Given the description of an element on the screen output the (x, y) to click on. 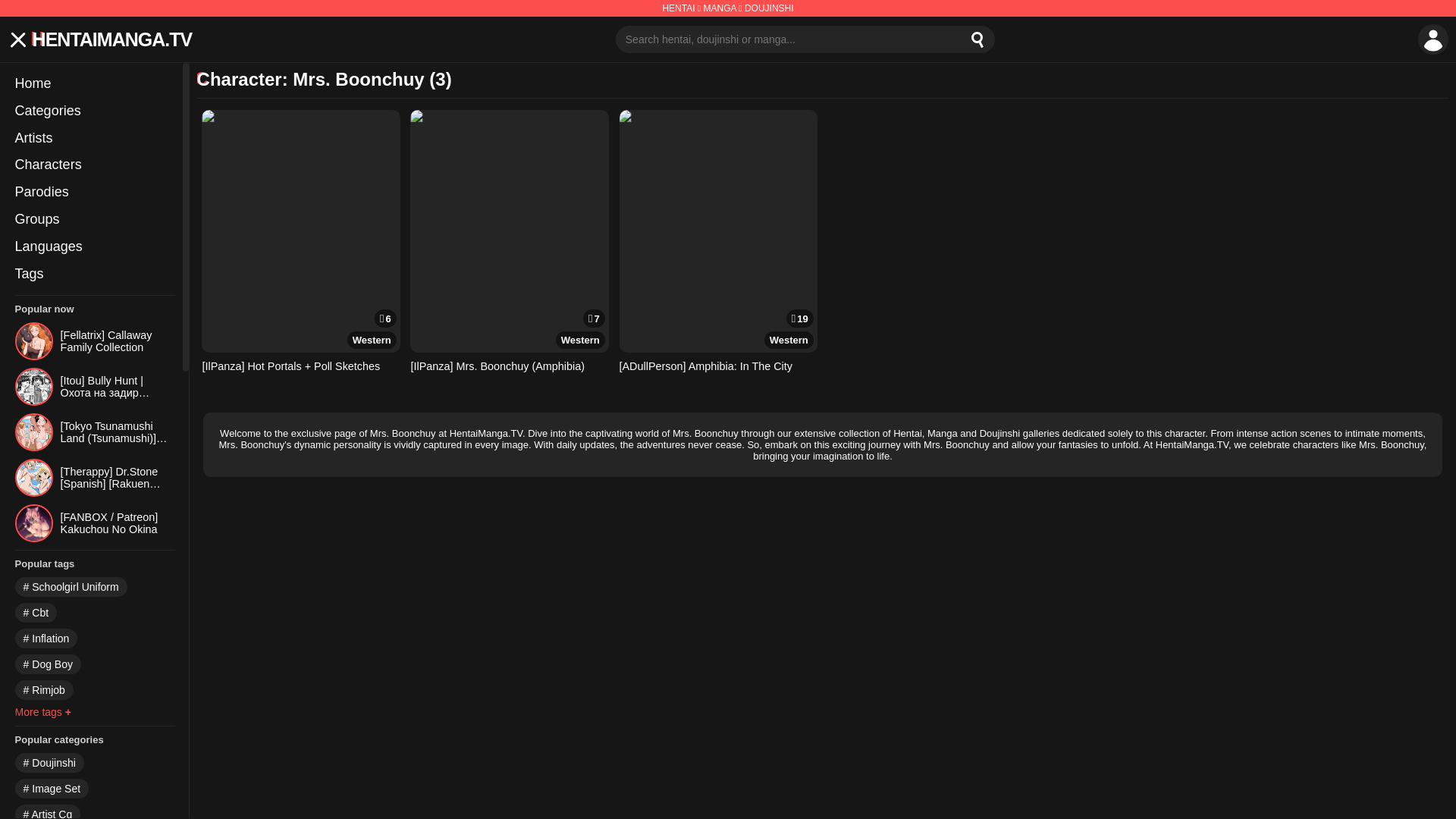
Parodies (94, 192)
Tags (94, 274)
Categories (94, 111)
Languages (94, 247)
Categories (94, 111)
Home (94, 83)
Groups (94, 219)
Languages (94, 247)
Characters (94, 165)
HENTAIMANGA.TV (112, 39)
